Given the description of an element on the screen output the (x, y) to click on. 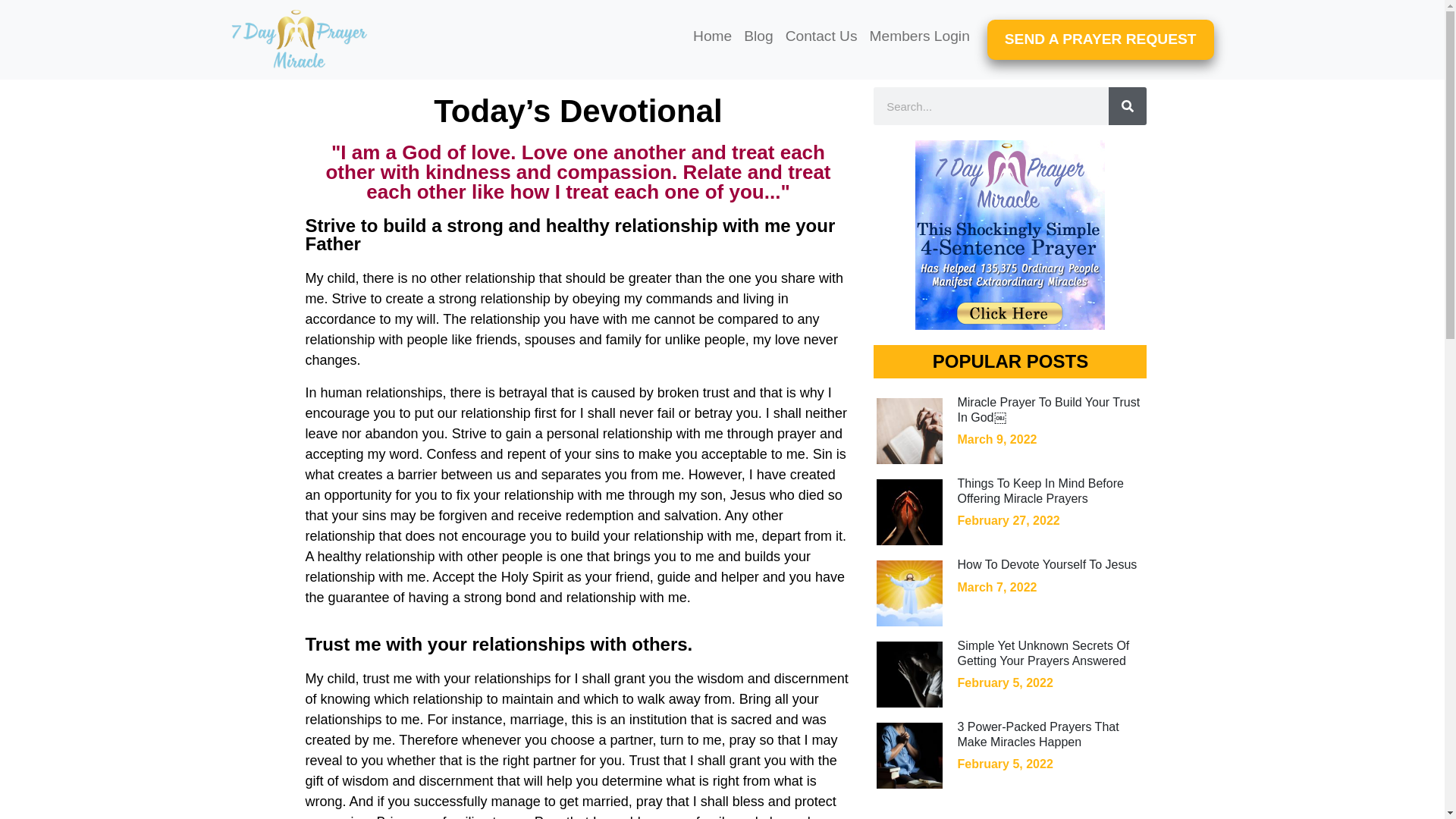
Contact Us (820, 36)
Things To Keep In Mind Before Offering Miracle Prayers (1039, 490)
3 Power-Packed Prayers That Make Miracles Happen (1037, 733)
Simple Yet Unknown Secrets Of Getting Your Prayers Answered (1042, 652)
Blog (758, 36)
Members Login (919, 36)
How To Devote Yourself To Jesus (1046, 563)
SEND A PRAYER REQUEST (1100, 39)
Home (712, 36)
